Given the description of an element on the screen output the (x, y) to click on. 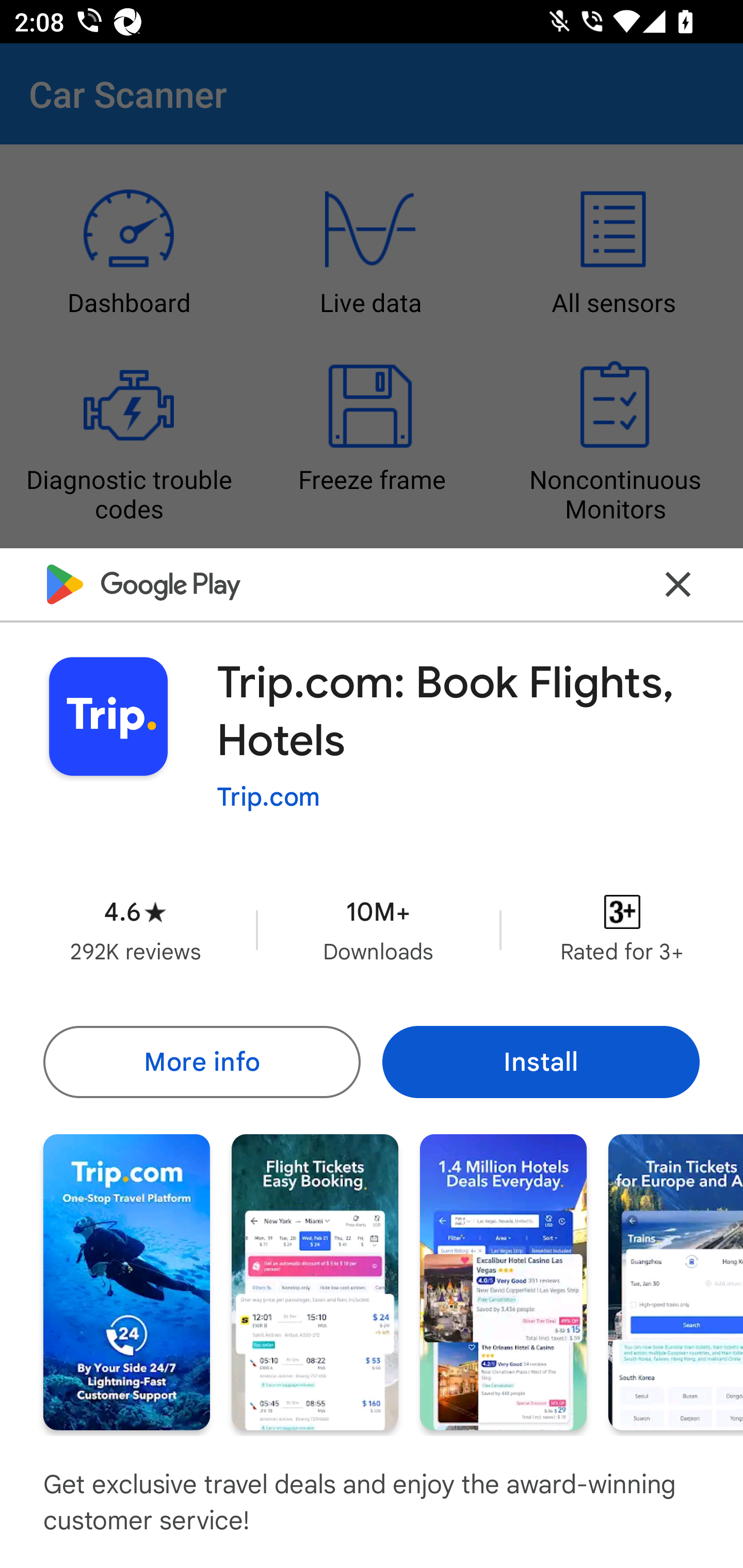
Close (677, 584)
Trip.com (268, 796)
More info (201, 1061)
Install (540, 1061)
Screenshot "1" of "8" (126, 1281)
Screenshot "2" of "8" (314, 1281)
Screenshot "3" of "8" (502, 1281)
Screenshot "4" of "8" (675, 1281)
